Given the description of an element on the screen output the (x, y) to click on. 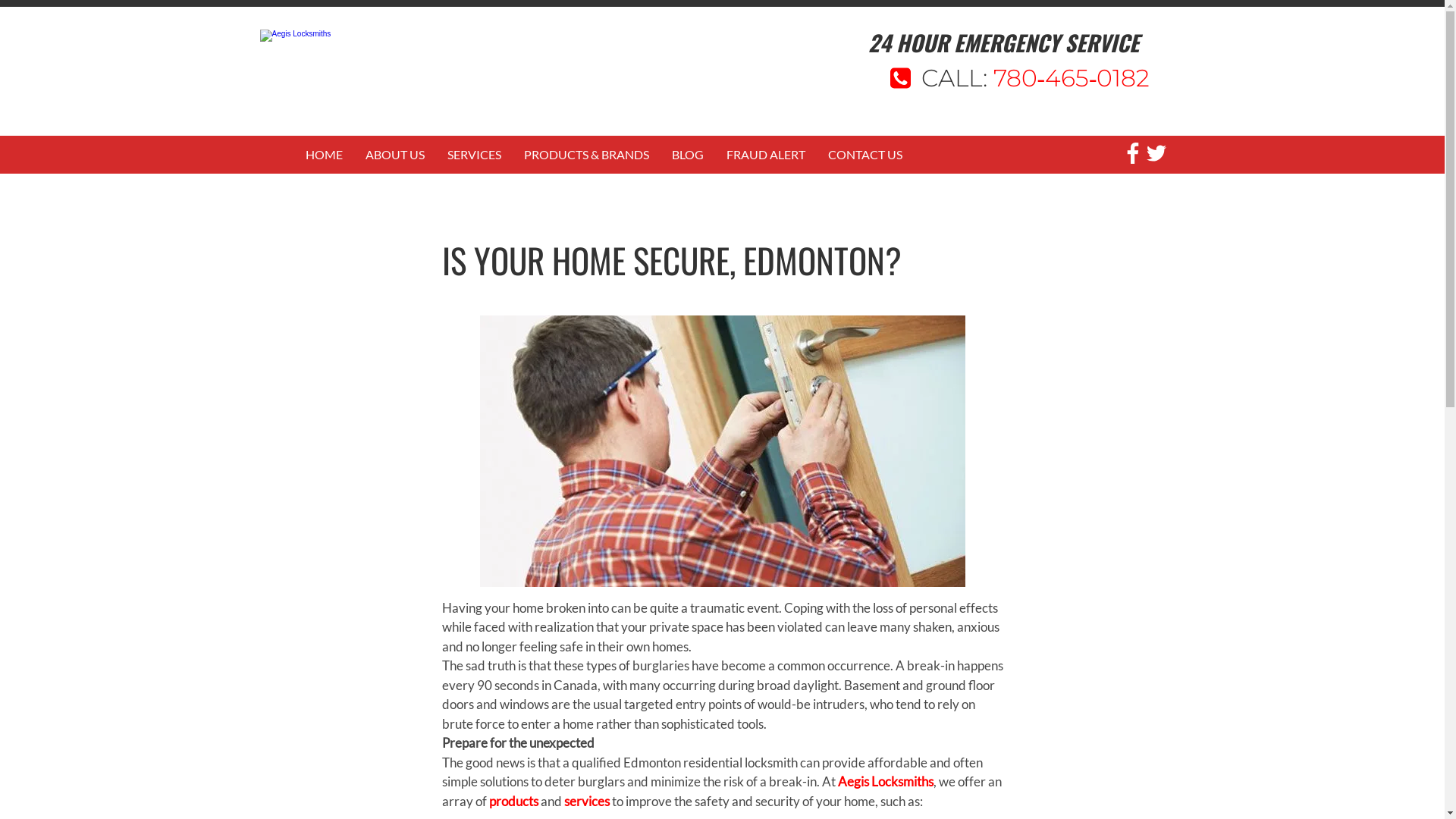
ABOUT US Element type: text (394, 154)
PRODUCTS & BRANDS Element type: text (586, 154)
CONTACT US Element type: text (864, 154)
products Element type: text (512, 801)
BLOG Element type: text (686, 154)
SERVICES Element type: text (473, 154)
services Element type: text (586, 801)
Aegis Locksmiths Element type: text (884, 781)
HOME Element type: text (324, 154)
FRAUD ALERT Element type: text (764, 154)
